Given the description of an element on the screen output the (x, y) to click on. 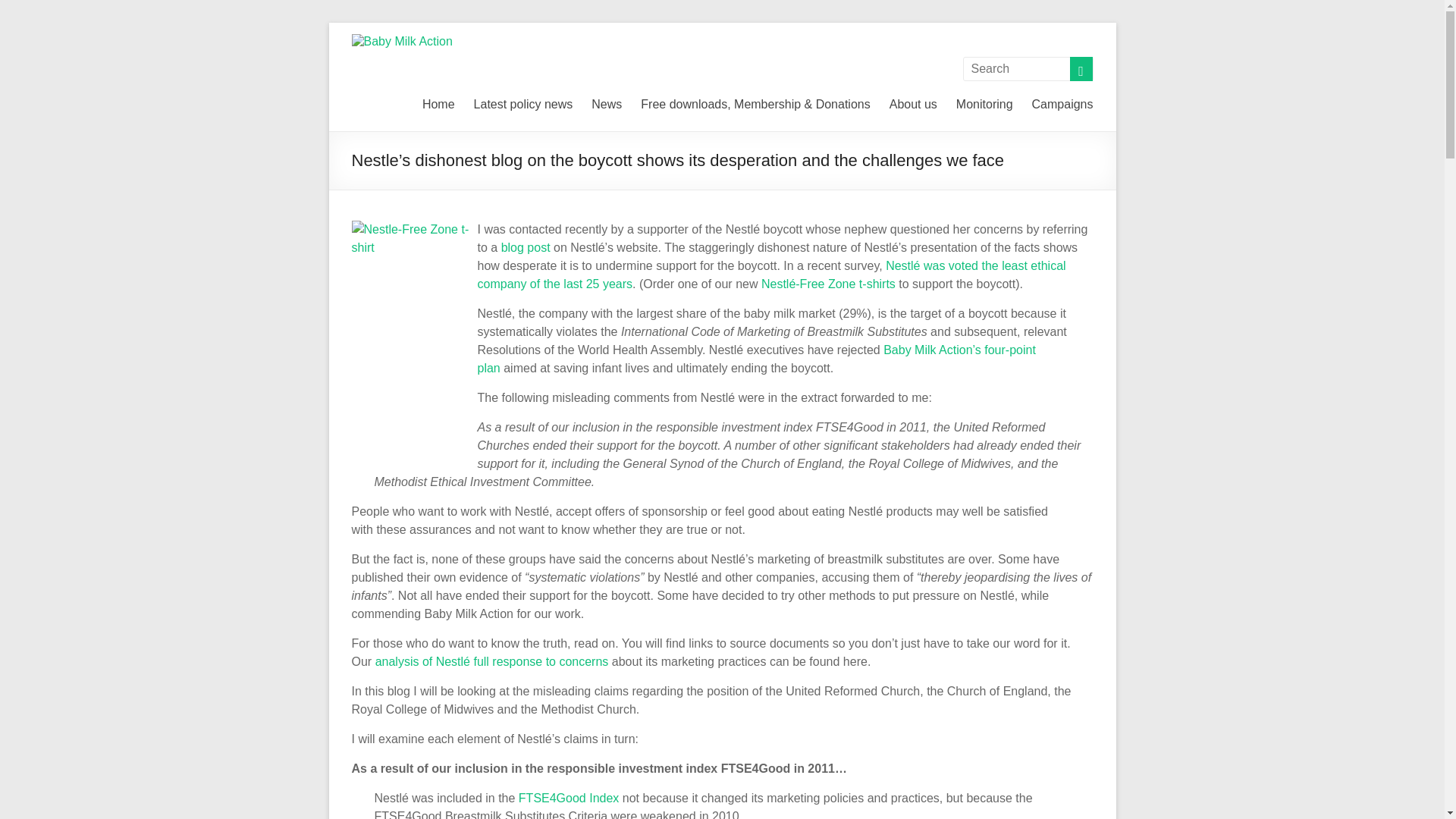
Latest policy news (523, 102)
Baby Milk Action (567, 54)
Baby Milk Action (567, 54)
Baby Milk Action (402, 41)
Home (438, 102)
Campaigns (1062, 102)
About us (913, 102)
Monitoring (984, 102)
Search (38, 11)
